Given the description of an element on the screen output the (x, y) to click on. 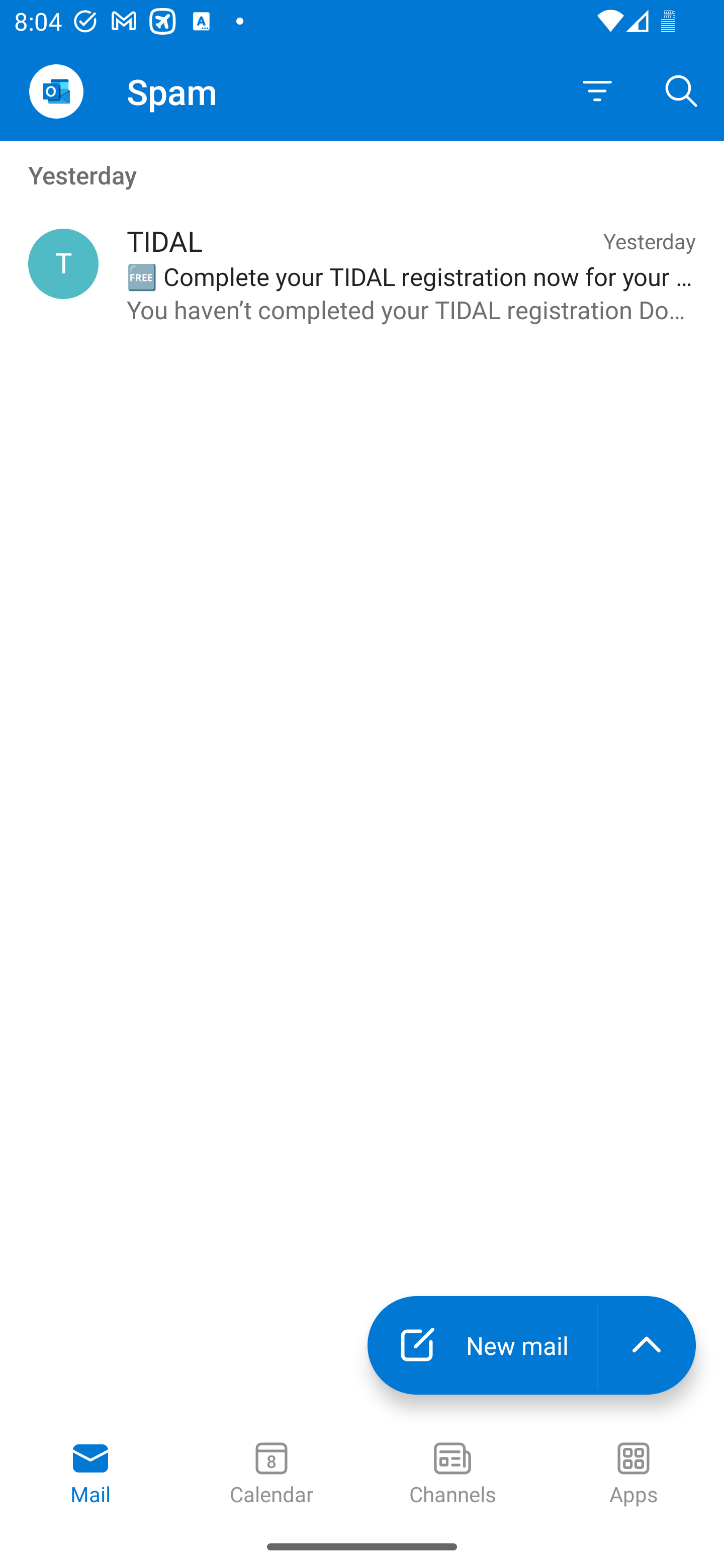
Search, ,  (681, 90)
Open Navigation Drawer (55, 91)
Filter (597, 91)
TIDAL, hello@email.tidal.com (63, 263)
New mail (481, 1344)
launch the extended action menu (646, 1344)
Calendar (271, 1474)
Channels (452, 1474)
Apps (633, 1474)
